Given the description of an element on the screen output the (x, y) to click on. 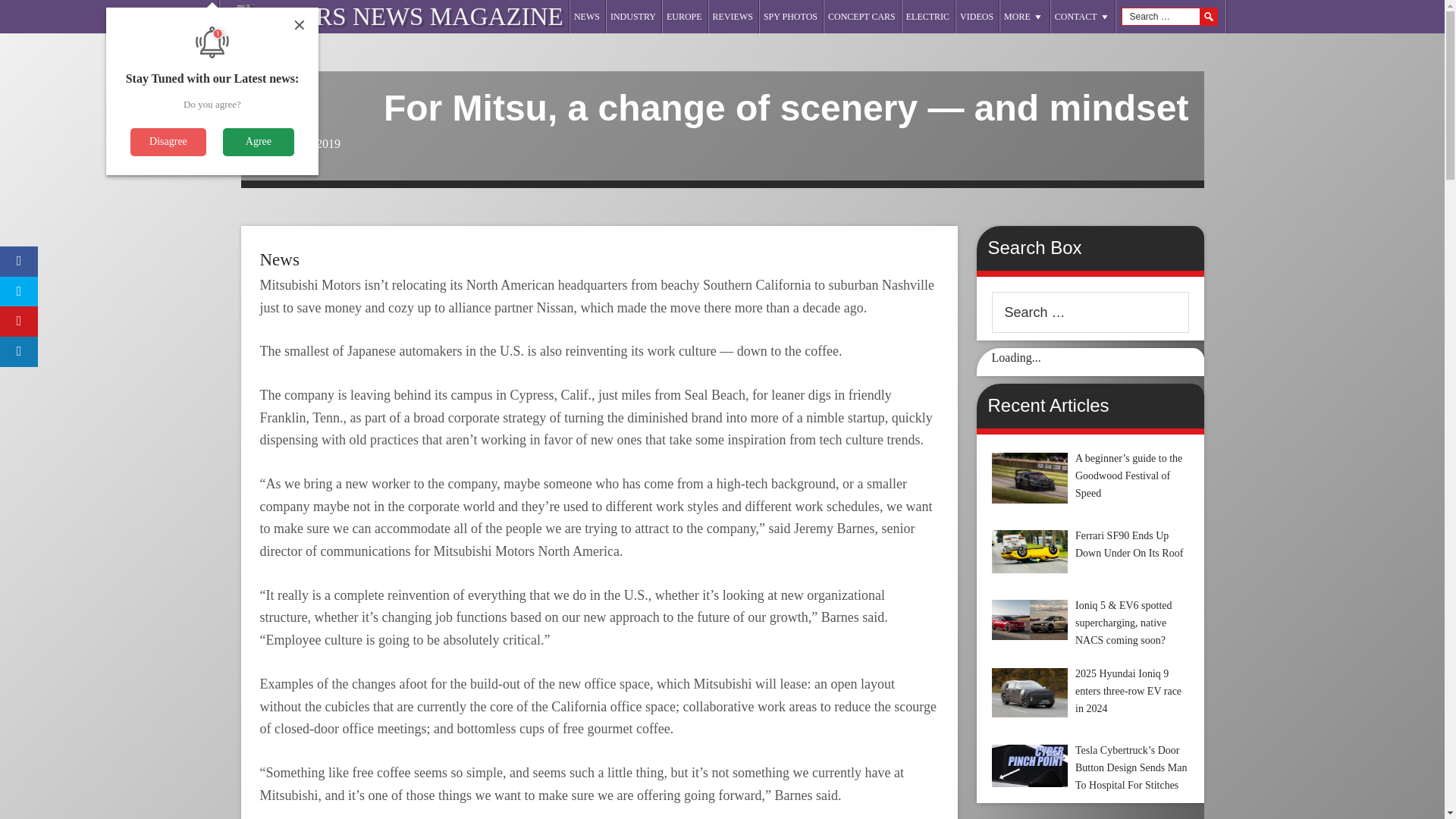
CONCEPT CARS (861, 16)
MORE (1023, 16)
NEWS (587, 16)
EUROPE (684, 16)
ELECTRIC (928, 16)
SPY PHOTOS (790, 16)
REVIEWS (732, 16)
INDUSTRY (633, 16)
News (278, 259)
CARS NEWS MAGAZINE (421, 16)
VIDEOS (976, 16)
CONTACT (1082, 16)
